Given the description of an element on the screen output the (x, y) to click on. 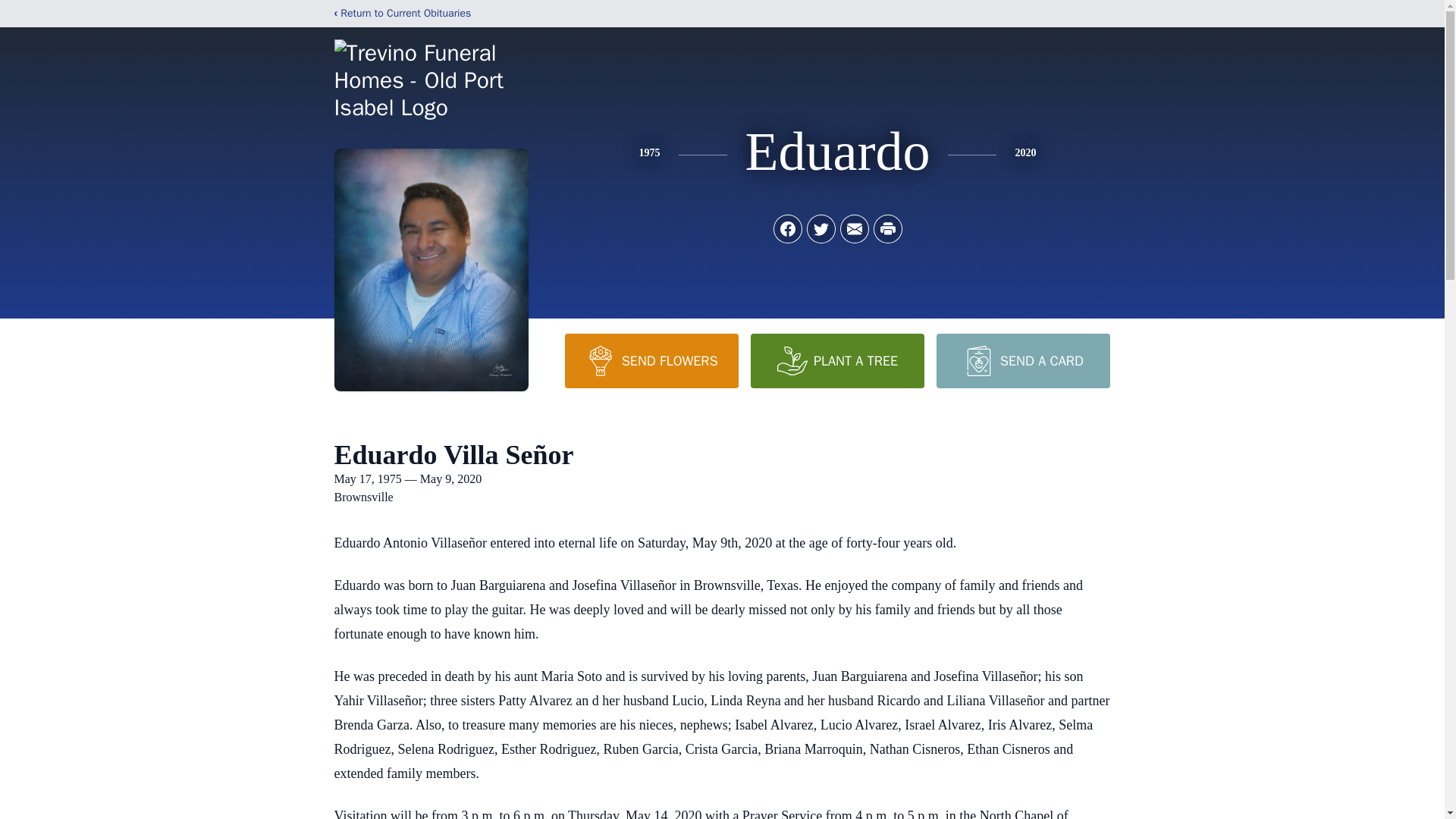
SEND A CARD (1022, 360)
PLANT A TREE (837, 360)
SEND FLOWERS (651, 360)
